Given the description of an element on the screen output the (x, y) to click on. 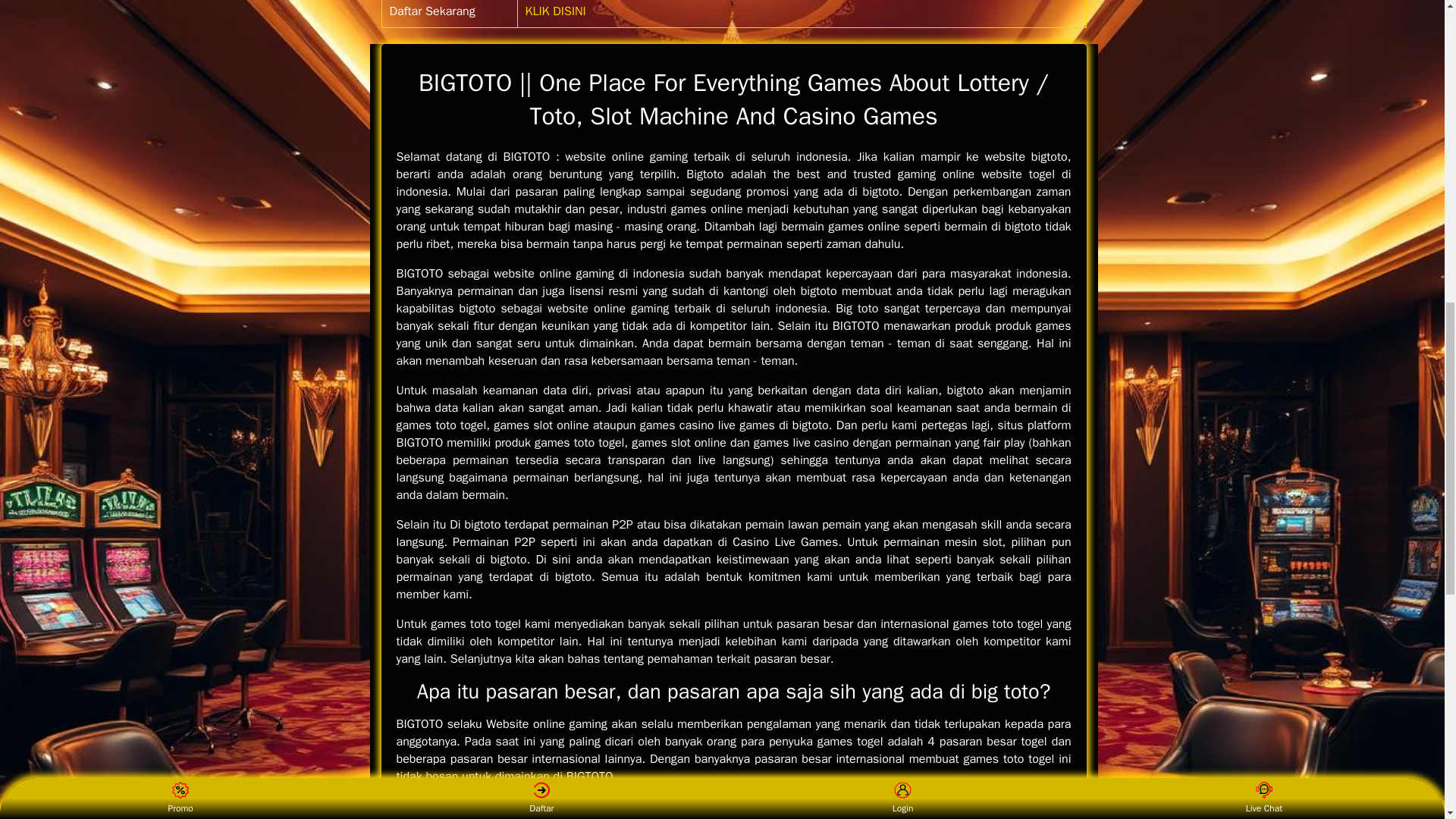
BIGTOTO (589, 776)
KLIK DISINI (555, 11)
BIGTOTO (419, 442)
